Given the description of an element on the screen output the (x, y) to click on. 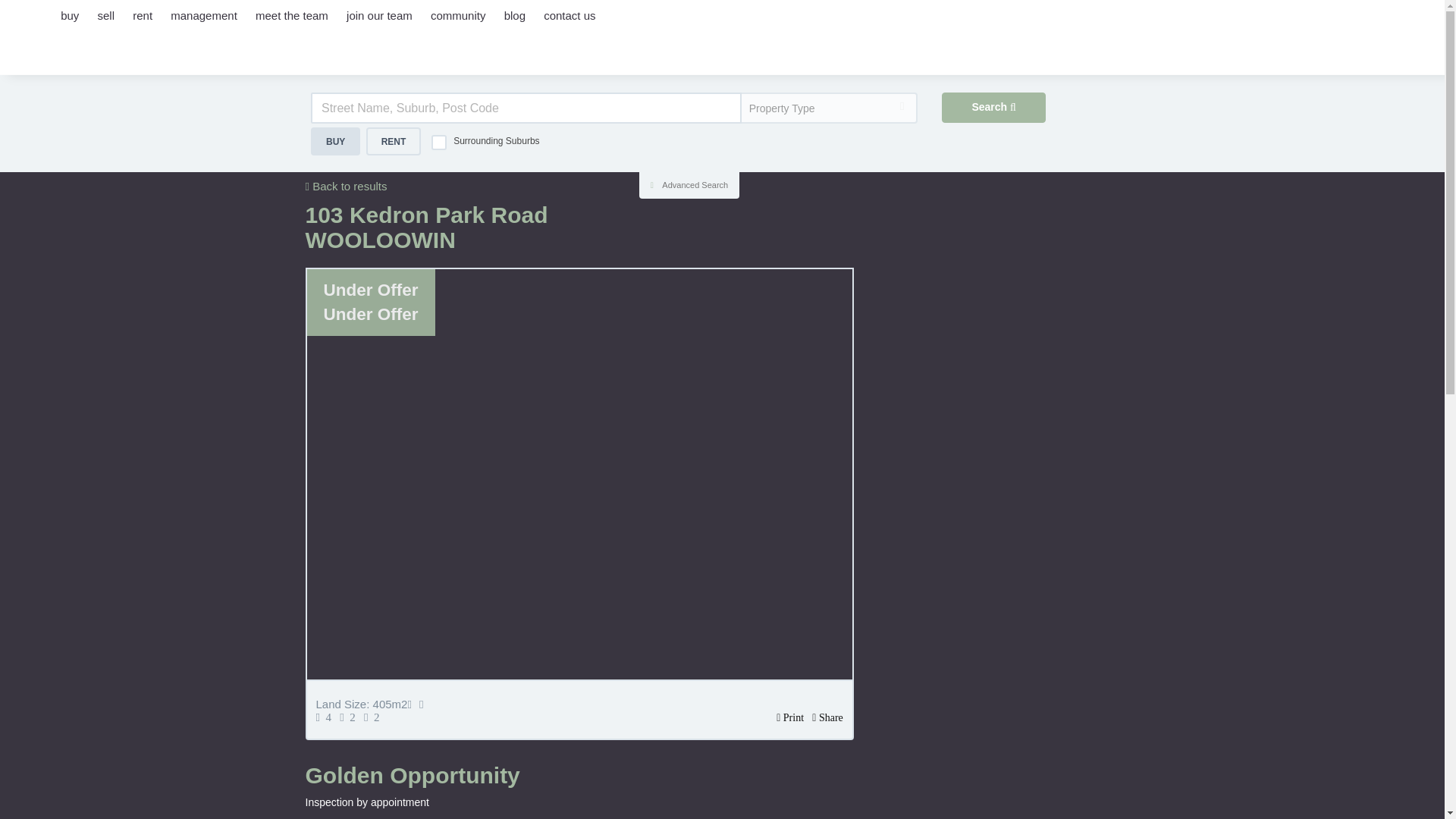
meet the team (291, 27)
Beds (325, 717)
Rent (394, 141)
community (458, 27)
management (203, 27)
Parking (374, 717)
Buy (335, 141)
join our team (379, 27)
Baths (350, 717)
